Given the description of an element on the screen output the (x, y) to click on. 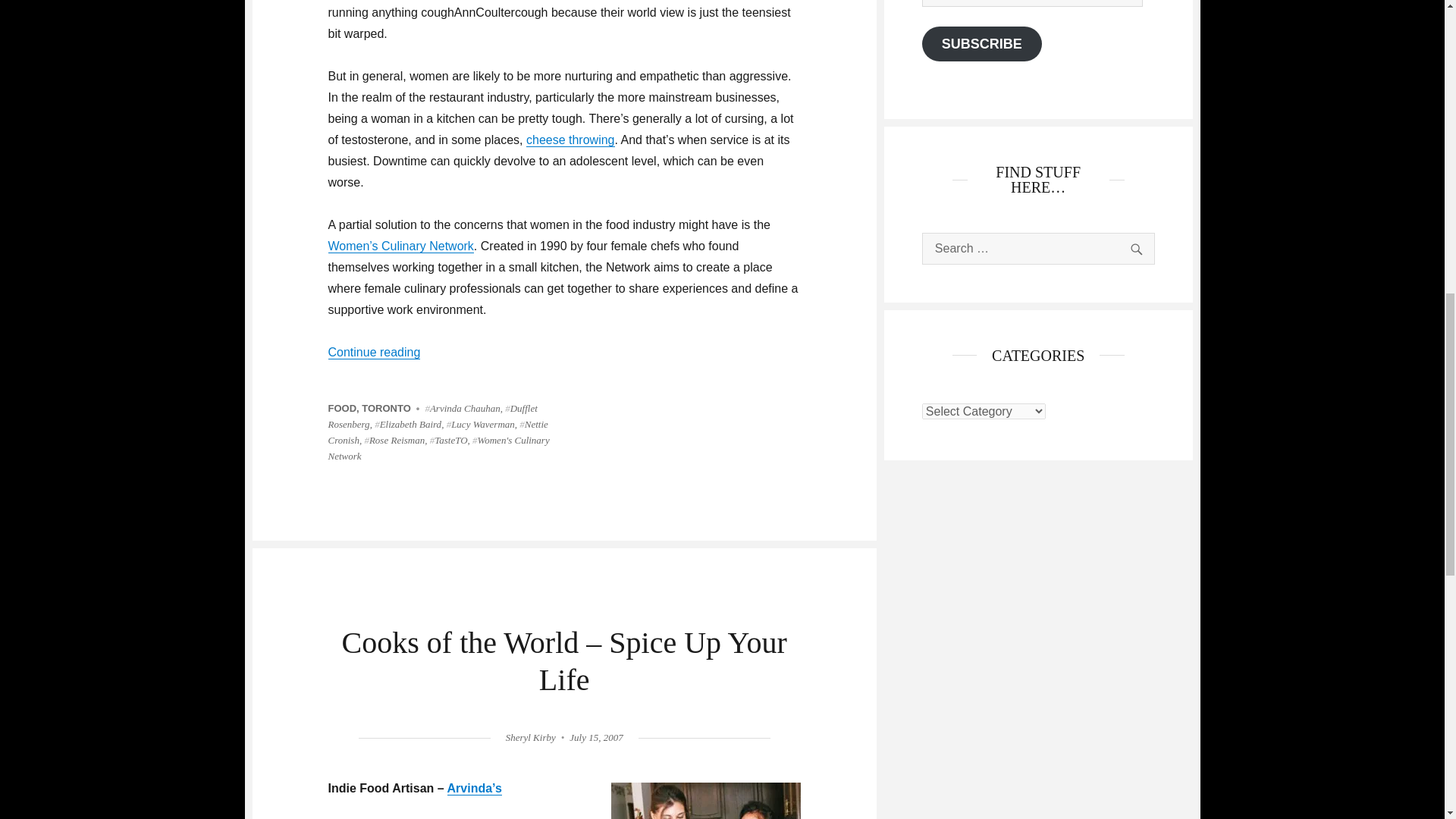
Lucy Waverman (480, 423)
Arvinda Chauhan (462, 408)
Rose Reisman (394, 439)
Dufflet Rosenberg (432, 415)
FOOD (341, 408)
Elizabeth Baird (407, 423)
TORONTO (385, 408)
Women's Culinary Network (437, 447)
Nettie Cronish (437, 431)
Sheryl Kirby (530, 737)
cheese throwing (569, 139)
TasteTO (448, 439)
July 15, 2007 (596, 737)
